Given the description of an element on the screen output the (x, y) to click on. 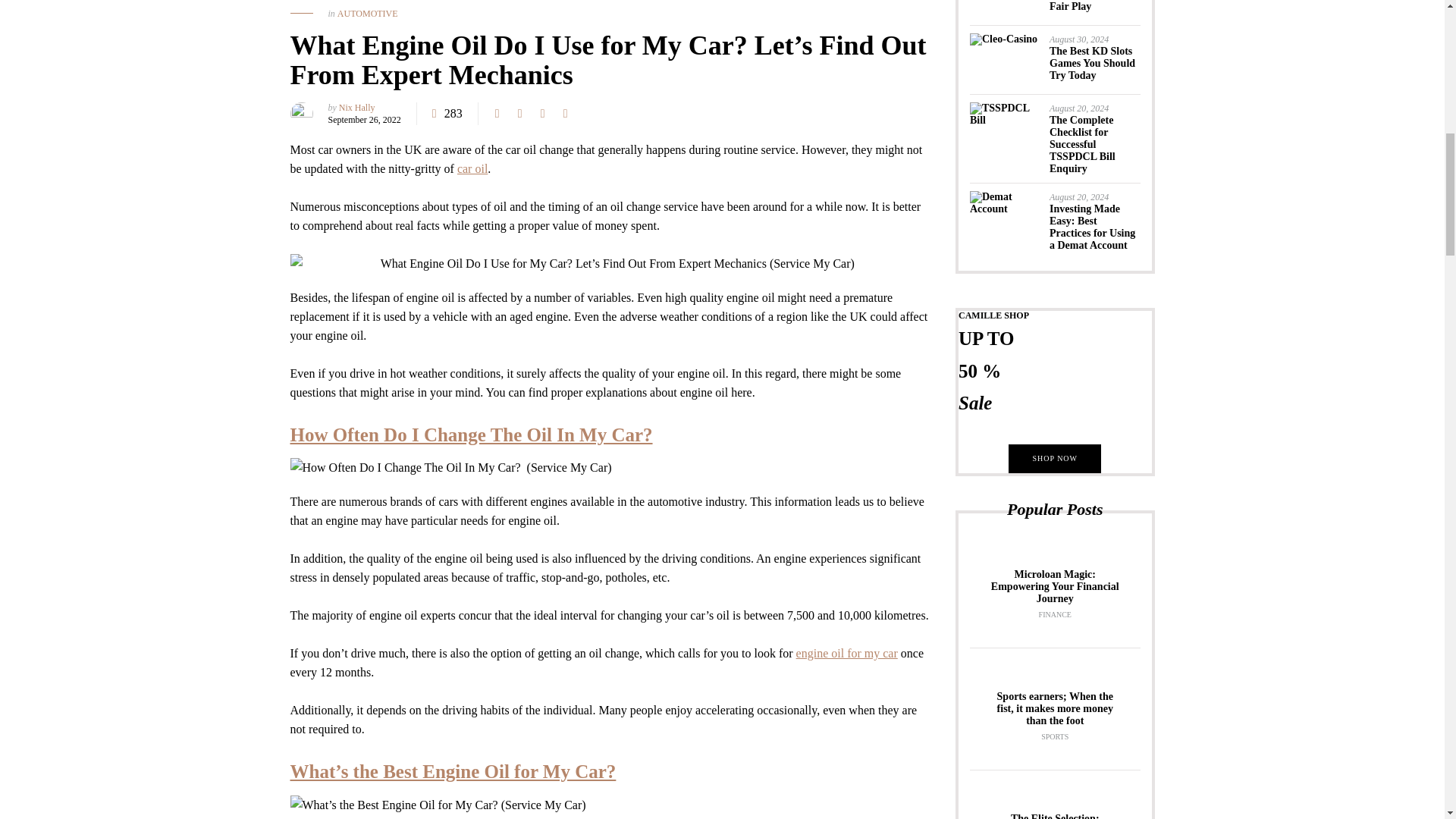
AUTOMOTIVE (367, 13)
Post views (447, 113)
Share this (497, 113)
engine oil for my car (847, 653)
Pin this (565, 113)
Tweet this (519, 113)
How Often Do I Change The Oil In My Car? (470, 435)
Share with Google Plus (542, 113)
car oil (472, 168)
Posts by Nix Hally (357, 107)
